Given the description of an element on the screen output the (x, y) to click on. 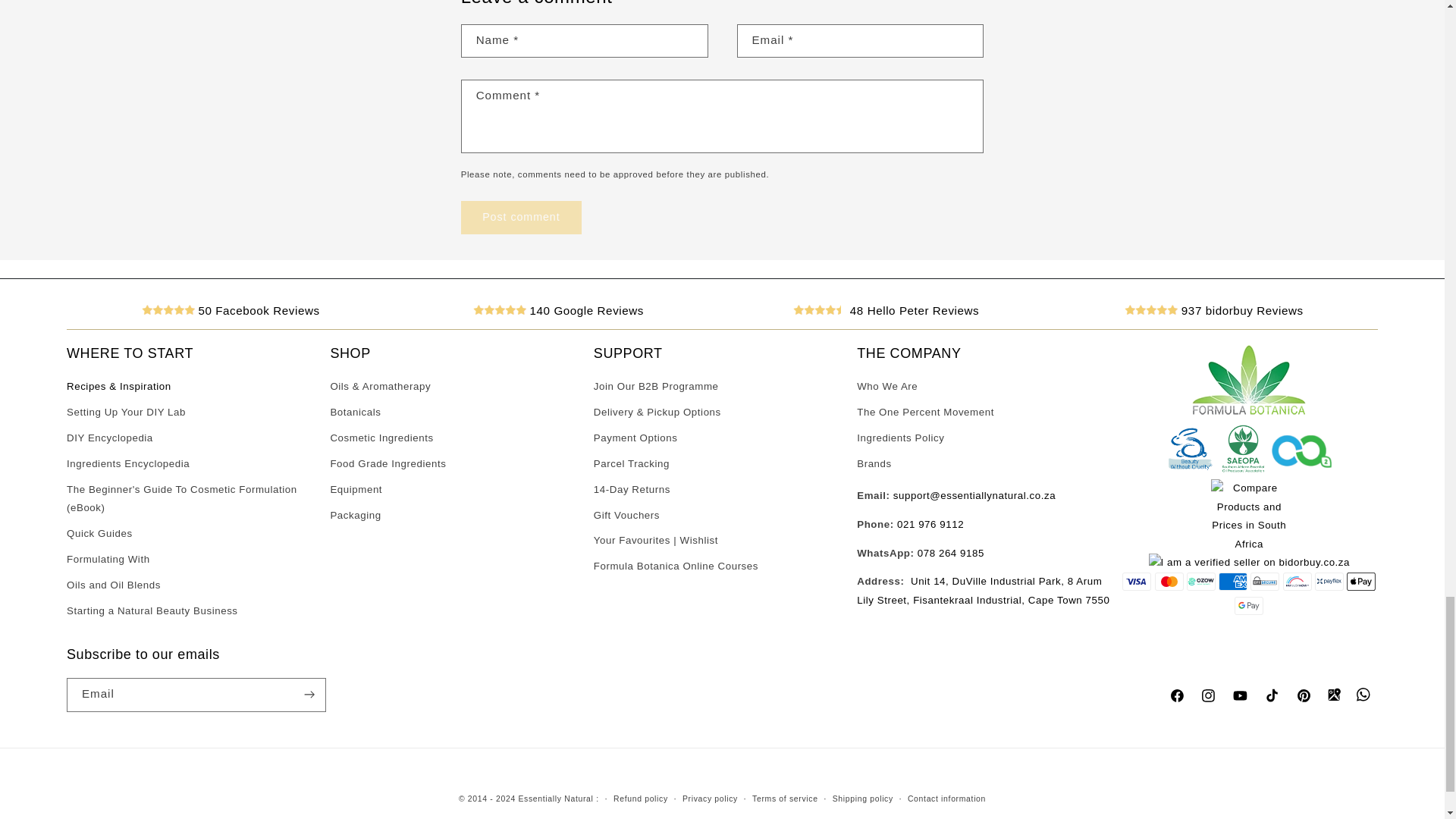
Visa (1136, 581)
PayJustNow (1296, 581)
Formula Botanica Partner (1249, 413)
Beauty Without Cruelty Endorsed (1190, 469)
Post comment (520, 217)
Payflex (1328, 581)
021 976 9112 (929, 523)
Apple Pay (1360, 581)
Mastercard (1168, 581)
